Given the description of an element on the screen output the (x, y) to click on. 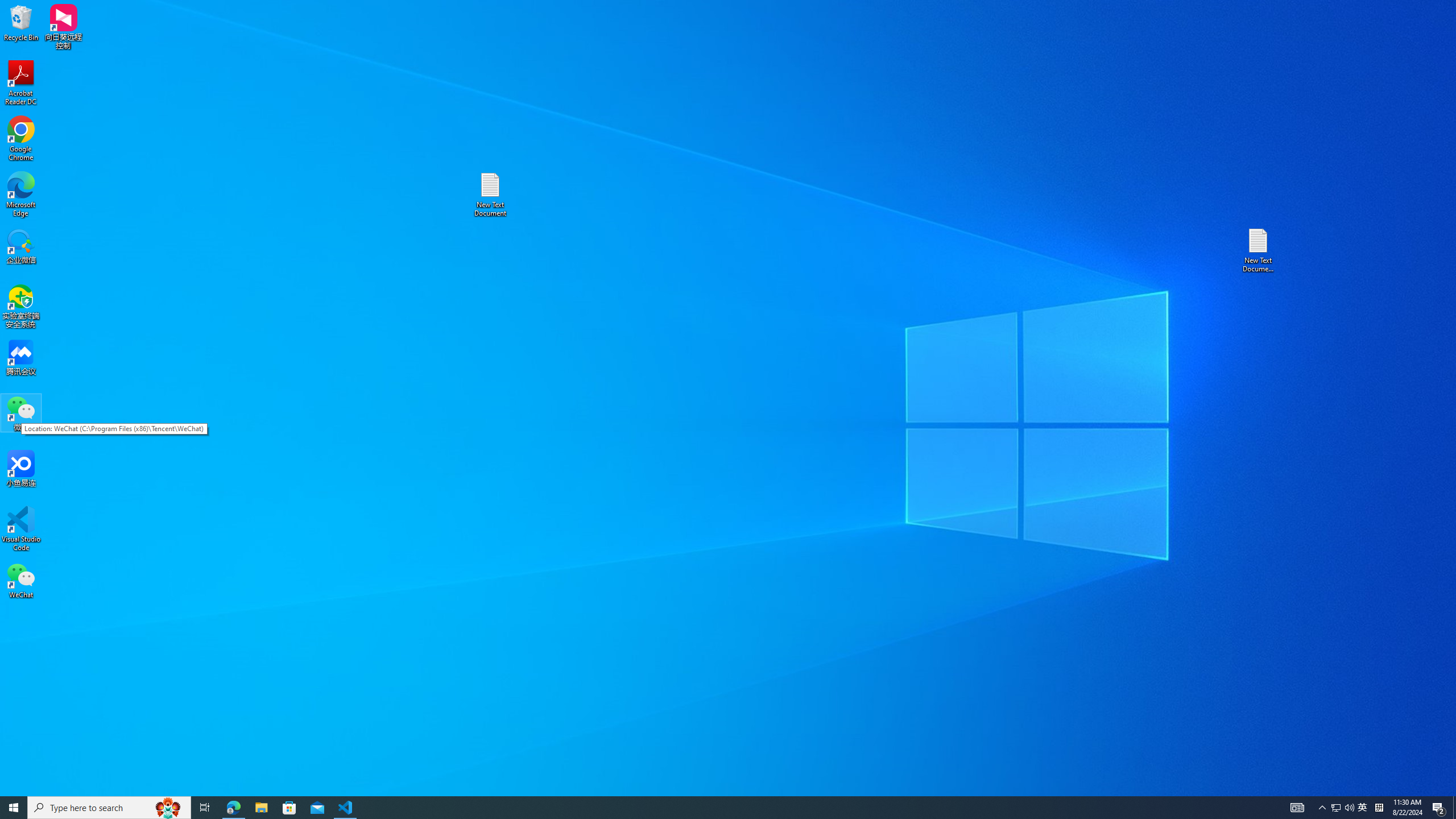
Google Chrome (21, 138)
New Text Document (489, 194)
Tray Input Indicator - Chinese (Simplified, China) (1378, 807)
